Given the description of an element on the screen output the (x, y) to click on. 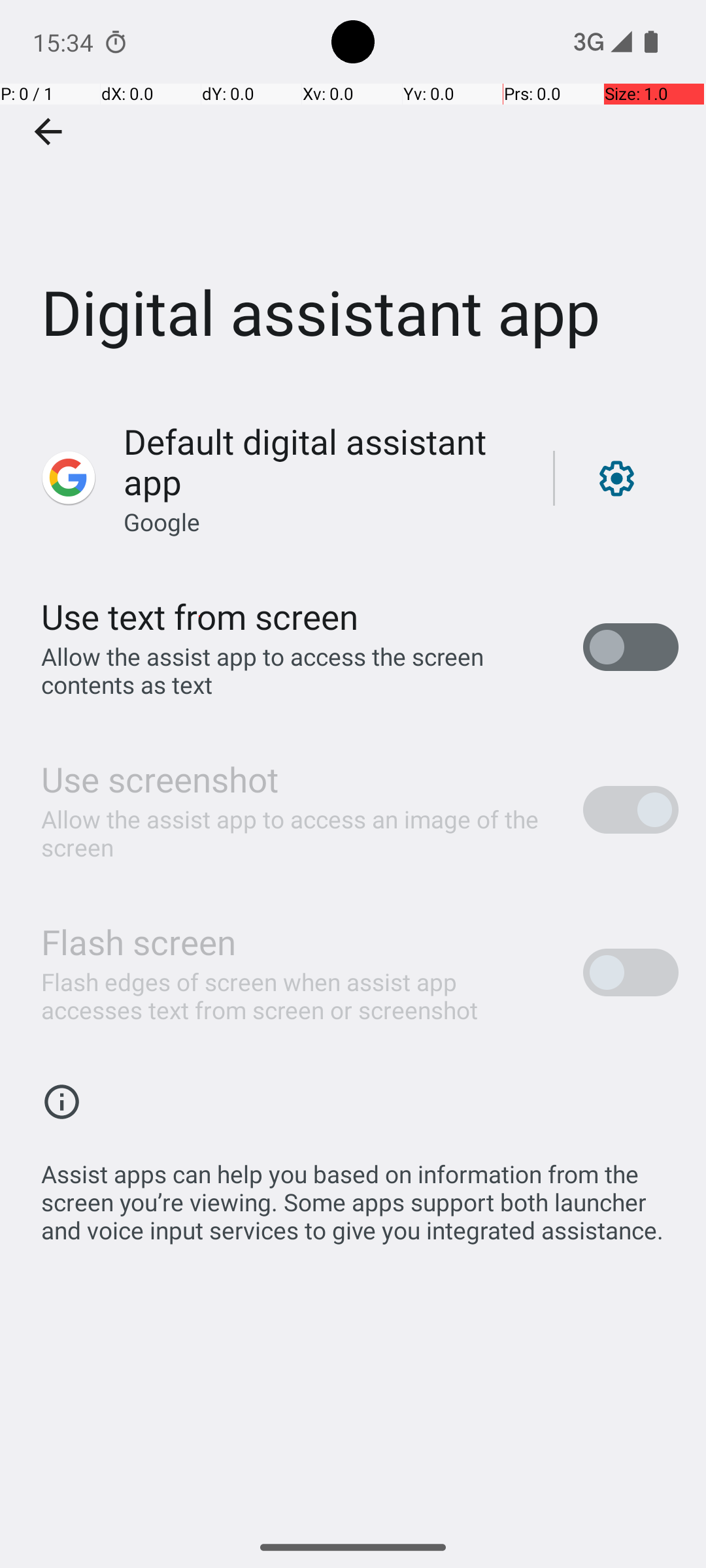
Digital assistant app Element type: android.widget.FrameLayout (353, 195)
Default digital assistant app Element type: android.widget.TextView (324, 461)
Use text from screen Element type: android.widget.TextView (199, 616)
Allow the assist app to access the screen contents as text Element type: android.widget.TextView (298, 670)
Use screenshot Element type: android.widget.TextView (159, 778)
Allow the assist app to access an image of the screen Element type: android.widget.TextView (298, 832)
Flash screen Element type: android.widget.TextView (138, 941)
Flash edges of screen when assist app accesses text from screen or screenshot Element type: android.widget.TextView (298, 995)
Assist apps can help you based on information from the screen you’re viewing. Some apps support both launcher and voice input services to give you integrated assistance. Element type: android.widget.TextView (359, 1194)
